Given the description of an element on the screen output the (x, y) to click on. 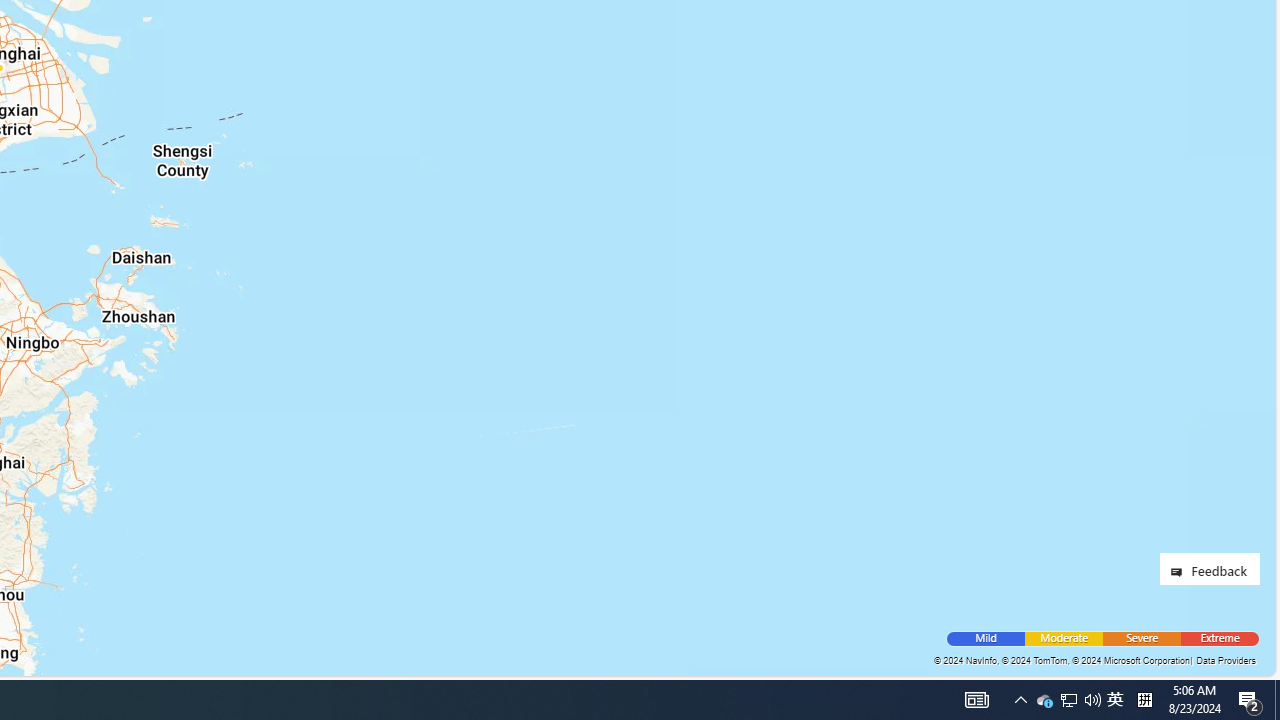
Data Providers (1225, 660)
Class: feedback_link_icon-DS-EntryPoint1-1 (1179, 571)
